Given the description of an element on the screen output the (x, y) to click on. 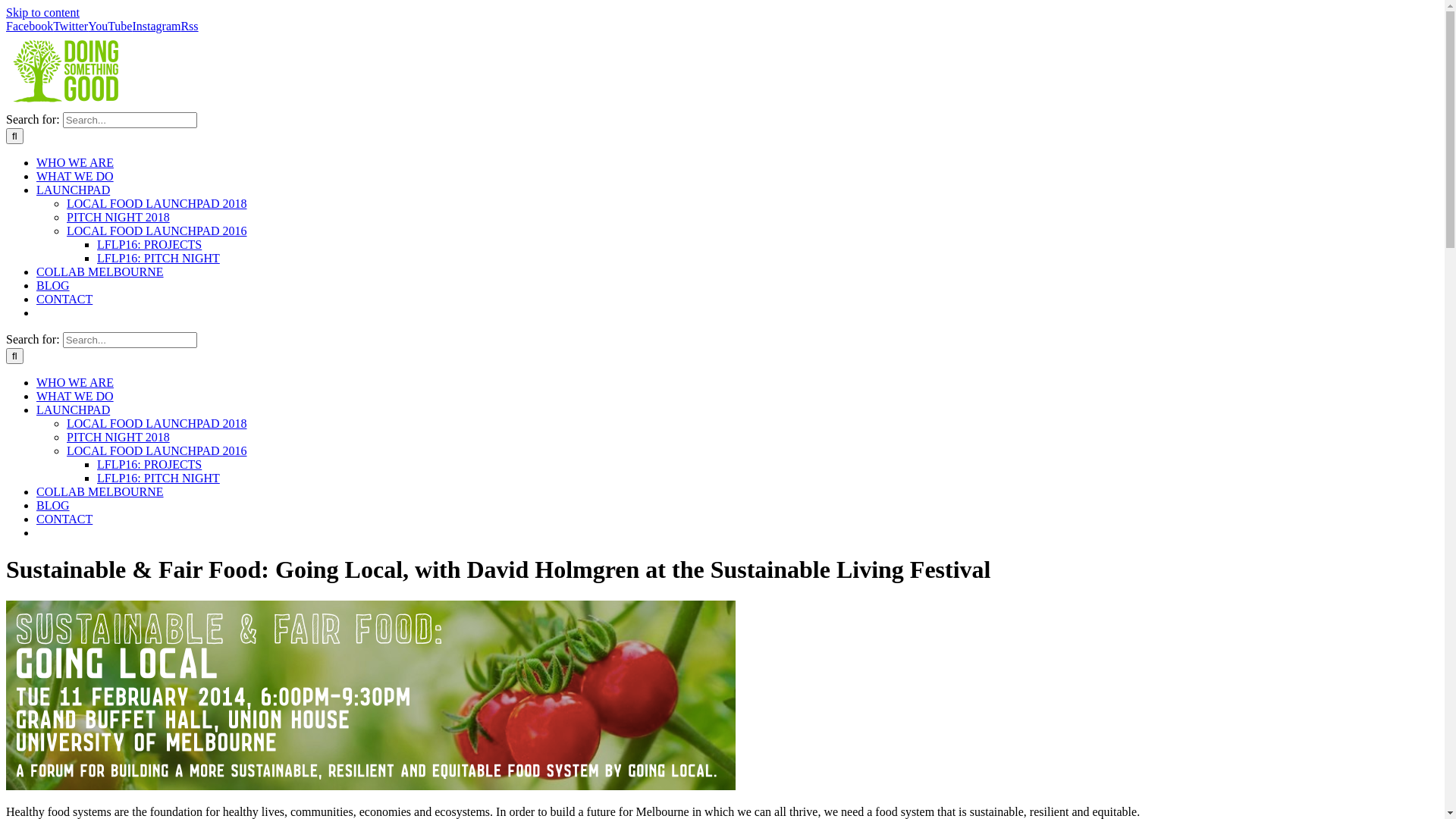
COLLAB MELBOURNE Element type: text (99, 491)
PITCH NIGHT 2018 Element type: text (117, 216)
Twitter Element type: text (70, 25)
Rss Element type: text (188, 25)
YouTube Element type: text (109, 25)
LFLP16: PROJECTS Element type: text (149, 244)
WHAT WE DO Element type: text (74, 395)
PITCH NIGHT 2018 Element type: text (117, 436)
LOCAL FOOD LAUNCHPAD 2018 Element type: text (156, 203)
CONTACT Element type: text (64, 518)
LFLP16: PITCH NIGHT Element type: text (158, 477)
LOCAL FOOD LAUNCHPAD 2018 Element type: text (156, 423)
BLOG Element type: text (52, 285)
LFLP16: PROJECTS Element type: text (149, 464)
LFLP16: PITCH NIGHT Element type: text (158, 257)
LAUNCHPAD Element type: text (72, 409)
WHAT WE DO Element type: text (74, 175)
WHO WE ARE Element type: text (74, 162)
Skip to content Element type: text (42, 12)
COLLAB MELBOURNE Element type: text (99, 271)
Instagram Element type: text (155, 25)
Facebook Element type: text (29, 25)
LOCAL FOOD LAUNCHPAD 2016 Element type: text (156, 450)
LAUNCHPAD Element type: text (72, 189)
CONTACT Element type: text (64, 298)
LOCAL FOOD LAUNCHPAD 2016 Element type: text (156, 230)
WHO WE ARE Element type: text (74, 382)
BLOG Element type: text (52, 504)
